Given the description of an element on the screen output the (x, y) to click on. 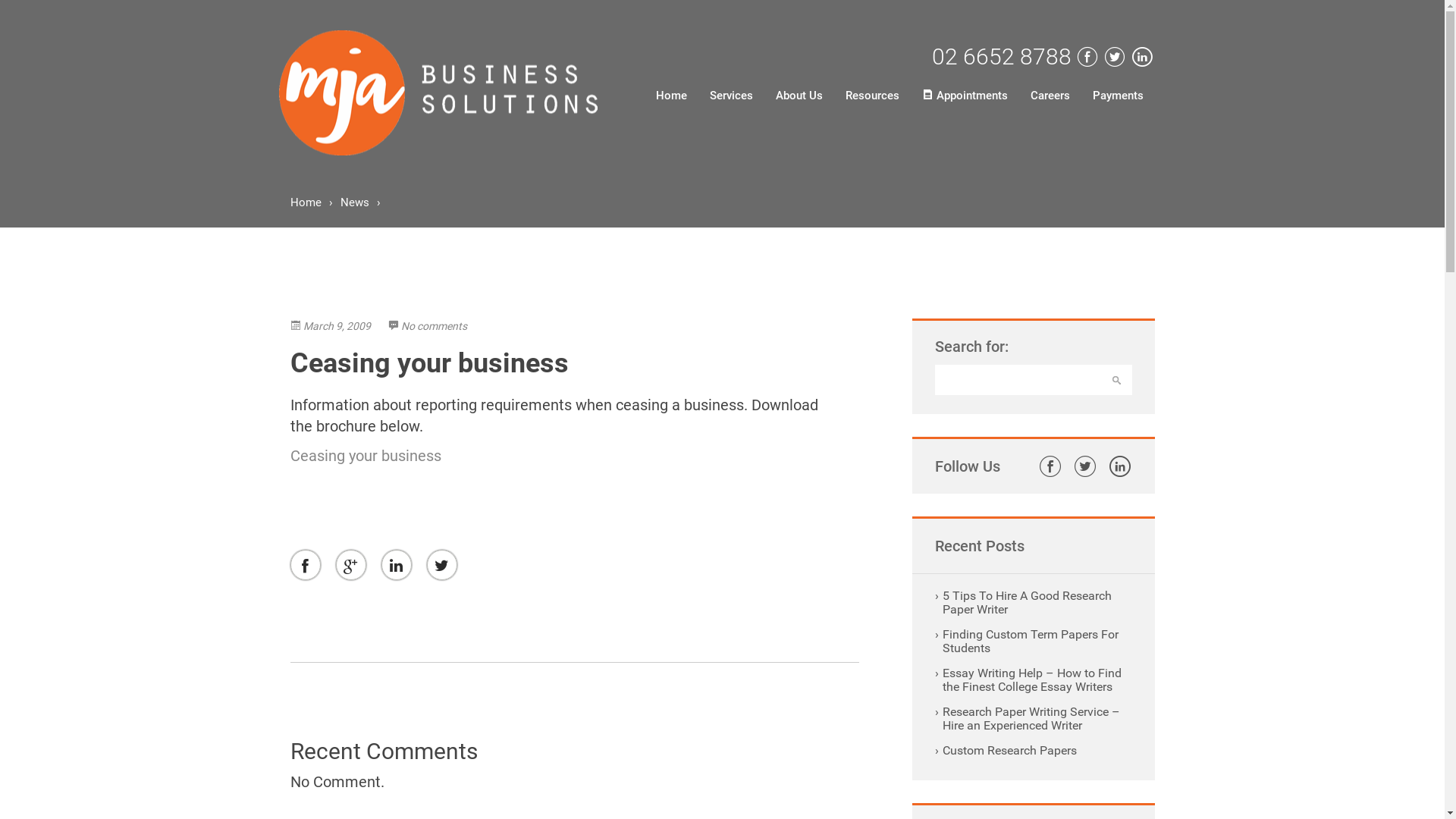
Payments Element type: text (1117, 95)
Careers Element type: text (1050, 95)
March 9, 2009 Element type: text (330, 326)
No comments Element type: text (427, 326)
Home Element type: text (304, 202)
About Us Element type: text (799, 95)
Services Element type: text (730, 95)
02 6652 8788 Element type: text (1000, 56)
Appointments Element type: text (964, 95)
MJA BUSSINESS SOLUTIONS Element type: text (438, 92)
News Element type: text (353, 202)
Finding Custom Term Papers For Students Element type: text (1029, 641)
5 Tips To Hire A Good Research Paper Writer Element type: text (1025, 602)
Ceasing your business Element type: text (364, 455)
Custom Research Papers Element type: text (1008, 750)
Home Element type: text (671, 95)
Resources Element type: text (872, 95)
Search Element type: text (1116, 379)
